Given the description of an element on the screen output the (x, y) to click on. 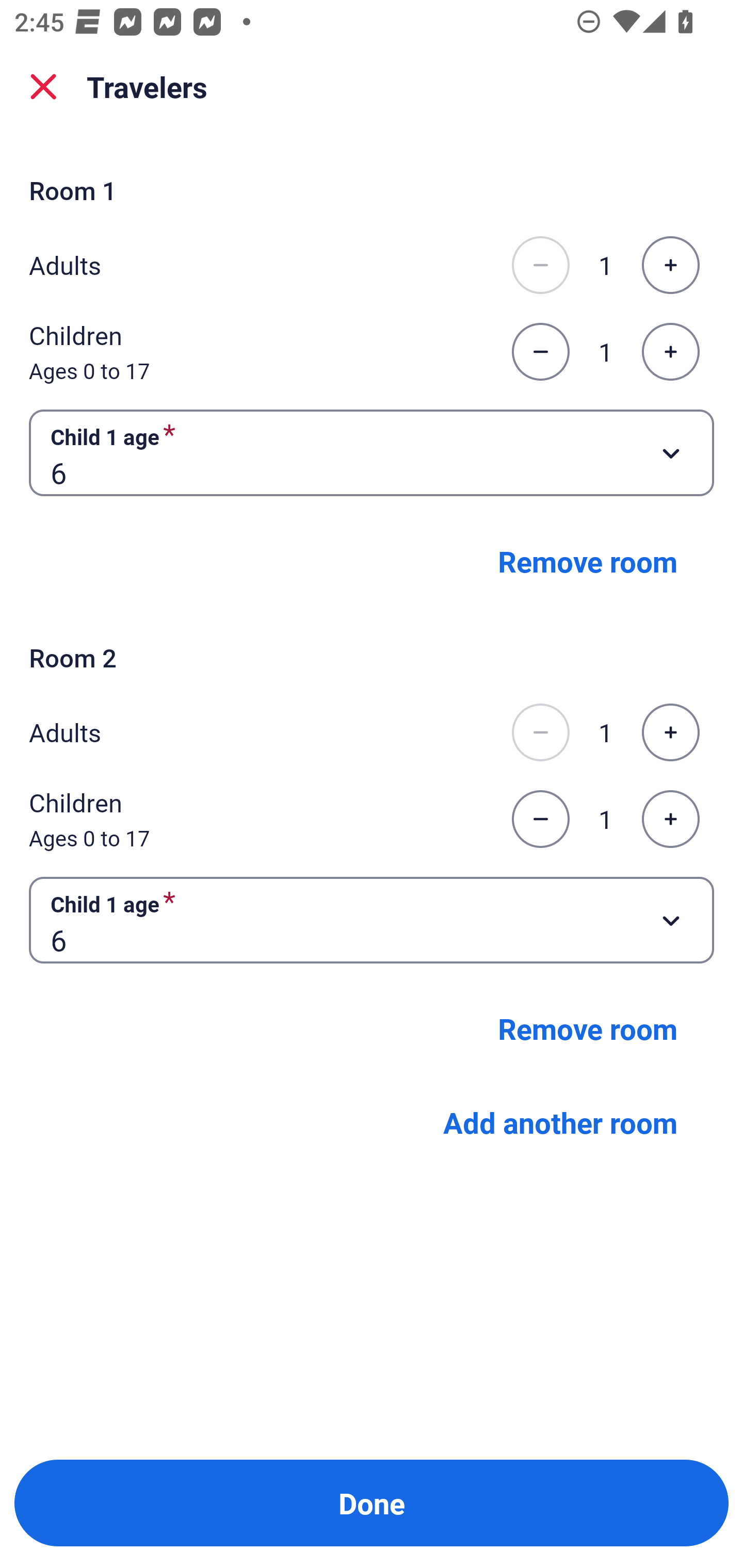
close (43, 86)
Decrease the number of adults (540, 264)
Increase the number of adults (670, 264)
Decrease the number of children (540, 351)
Increase the number of children (670, 351)
Child 1 age required Button 6 (371, 452)
Remove room (588, 561)
Decrease the number of adults (540, 732)
Increase the number of adults (670, 732)
Decrease the number of children (540, 819)
Increase the number of children (670, 819)
Child 1 age required Button 6 (371, 919)
Remove room (588, 1028)
Add another room (560, 1121)
Done (371, 1502)
